Given the description of an element on the screen output the (x, y) to click on. 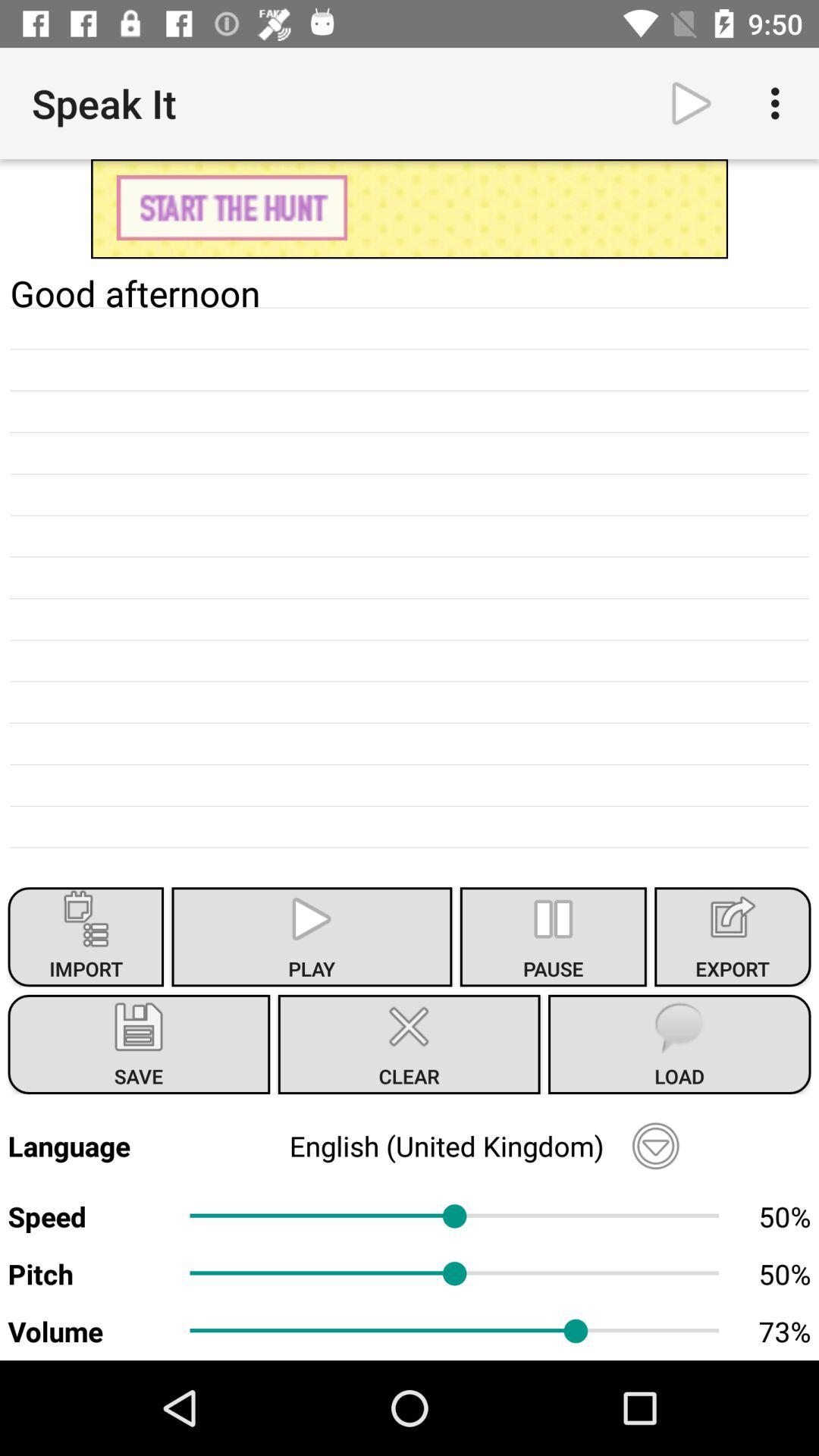
play (691, 103)
